Given the description of an element on the screen output the (x, y) to click on. 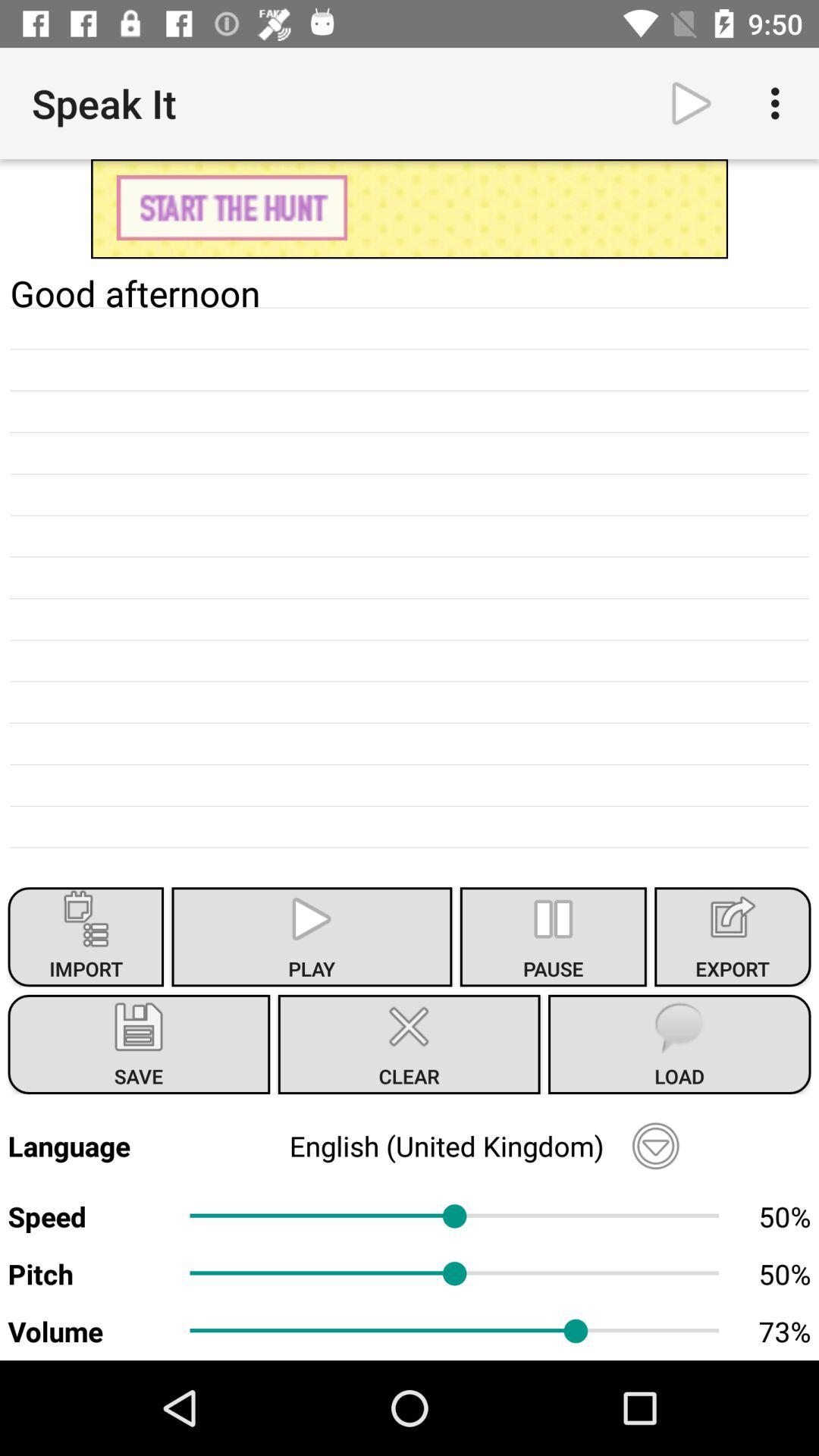
play (691, 103)
